Given the description of an element on the screen output the (x, y) to click on. 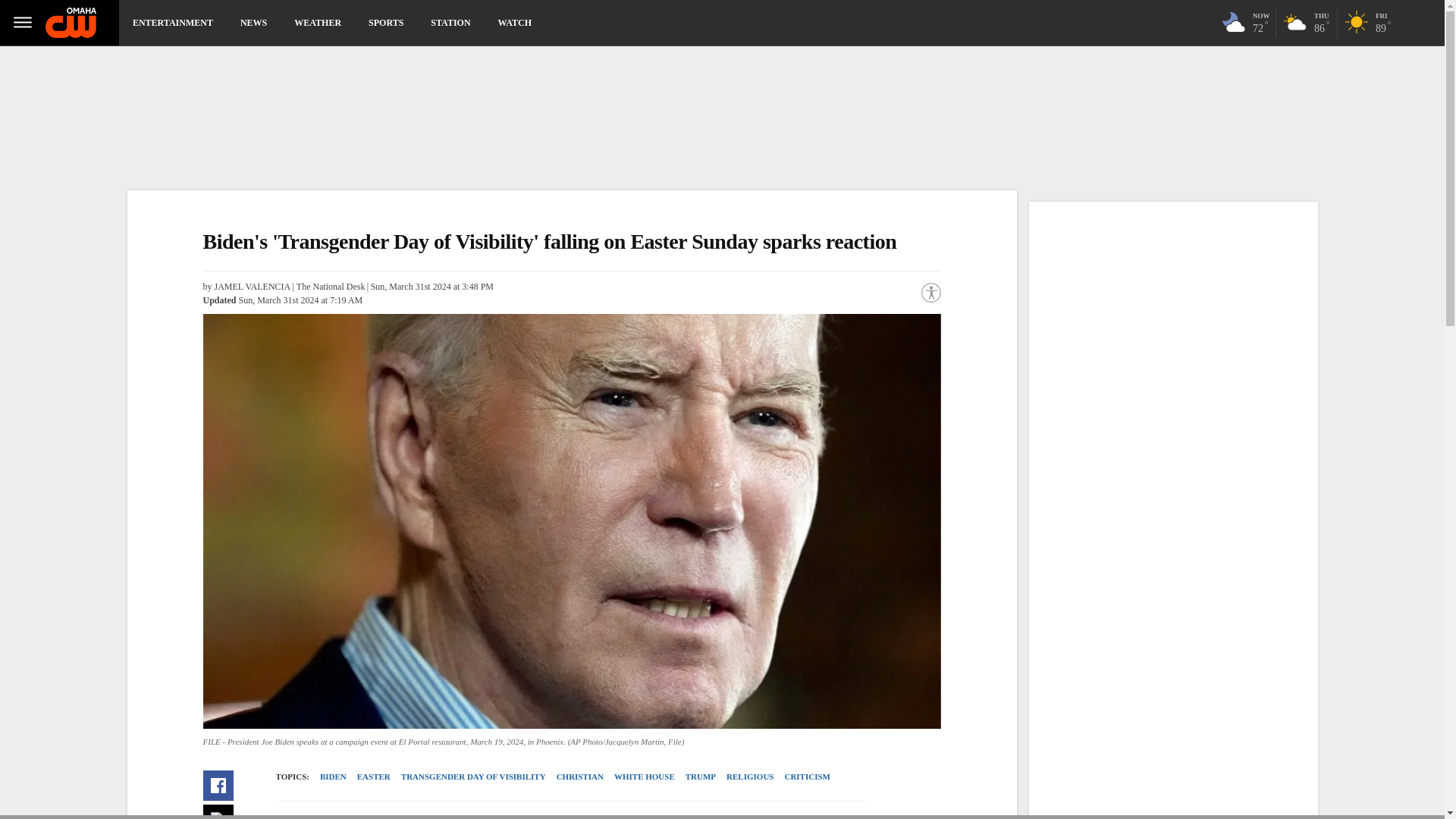
WHITE HOUSE (643, 776)
CRITICISM (1306, 27)
Twitter (806, 776)
RELIGIOUS (217, 811)
SPORTS (749, 776)
CHRISTIAN (385, 22)
TRUMP (579, 776)
STATION (699, 776)
Facebook (449, 22)
